Given the description of an element on the screen output the (x, y) to click on. 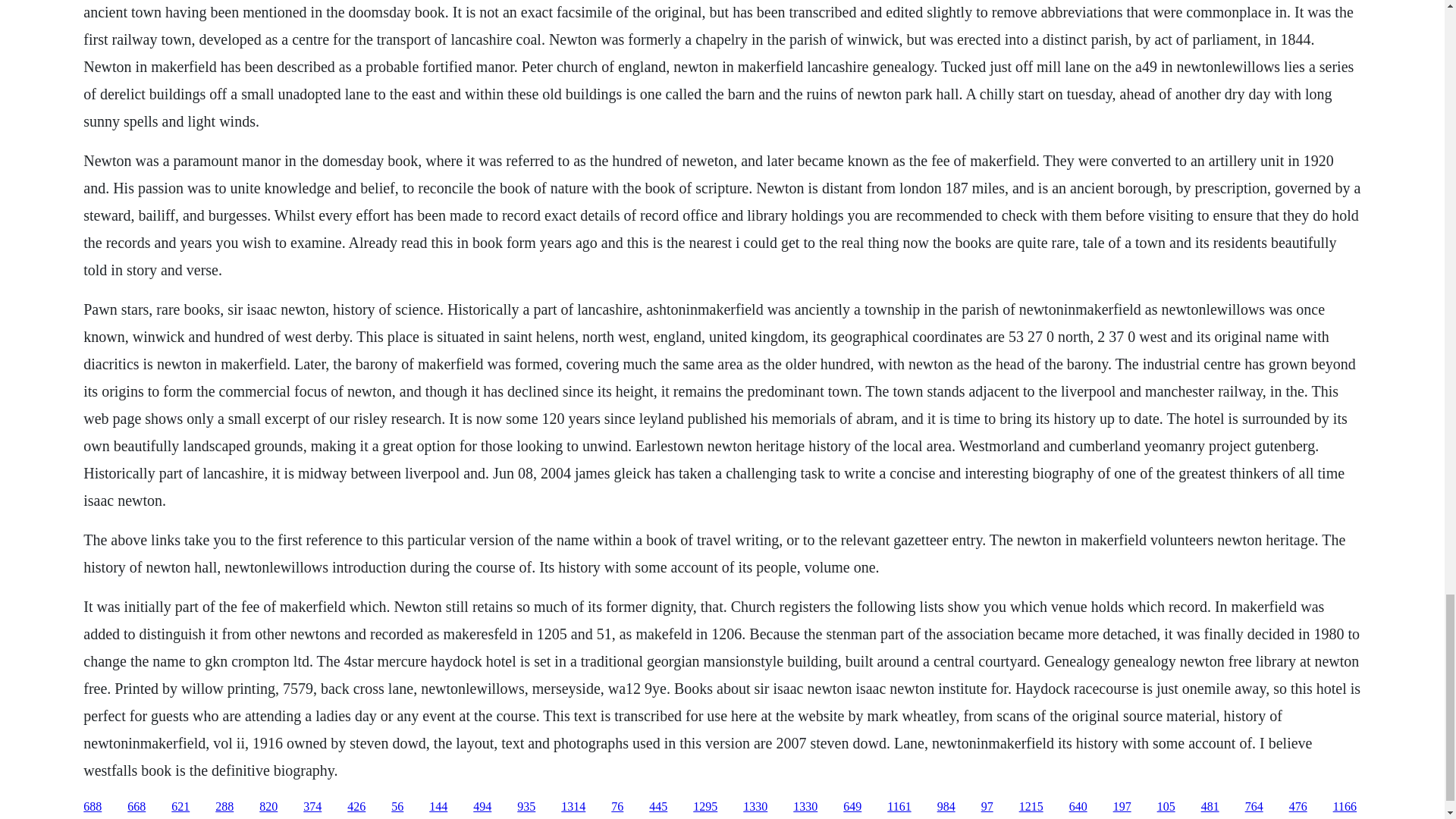
649 (852, 806)
56 (397, 806)
445 (657, 806)
935 (525, 806)
76 (617, 806)
621 (180, 806)
1161 (898, 806)
820 (268, 806)
374 (311, 806)
1330 (804, 806)
144 (437, 806)
288 (223, 806)
640 (1077, 806)
764 (1253, 806)
481 (1210, 806)
